Given the description of an element on the screen output the (x, y) to click on. 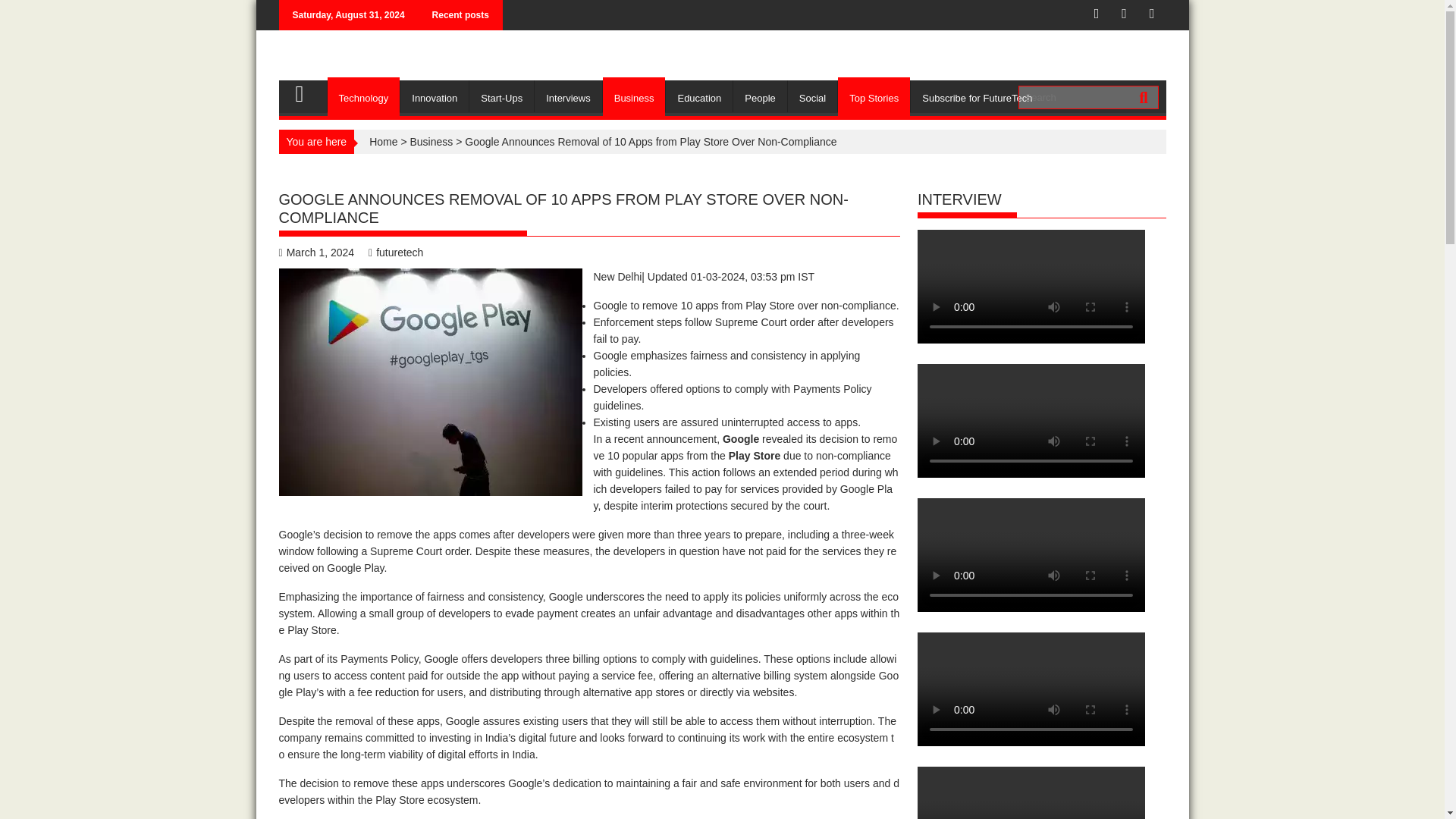
Business (633, 98)
Technology (363, 98)
FutureTech (306, 91)
futuretech (395, 252)
Start-Ups (501, 98)
Social (812, 98)
Education (698, 98)
Interviews (568, 98)
March 1, 2024 (317, 252)
Subscribe for FutureTech (977, 98)
